Given the description of an element on the screen output the (x, y) to click on. 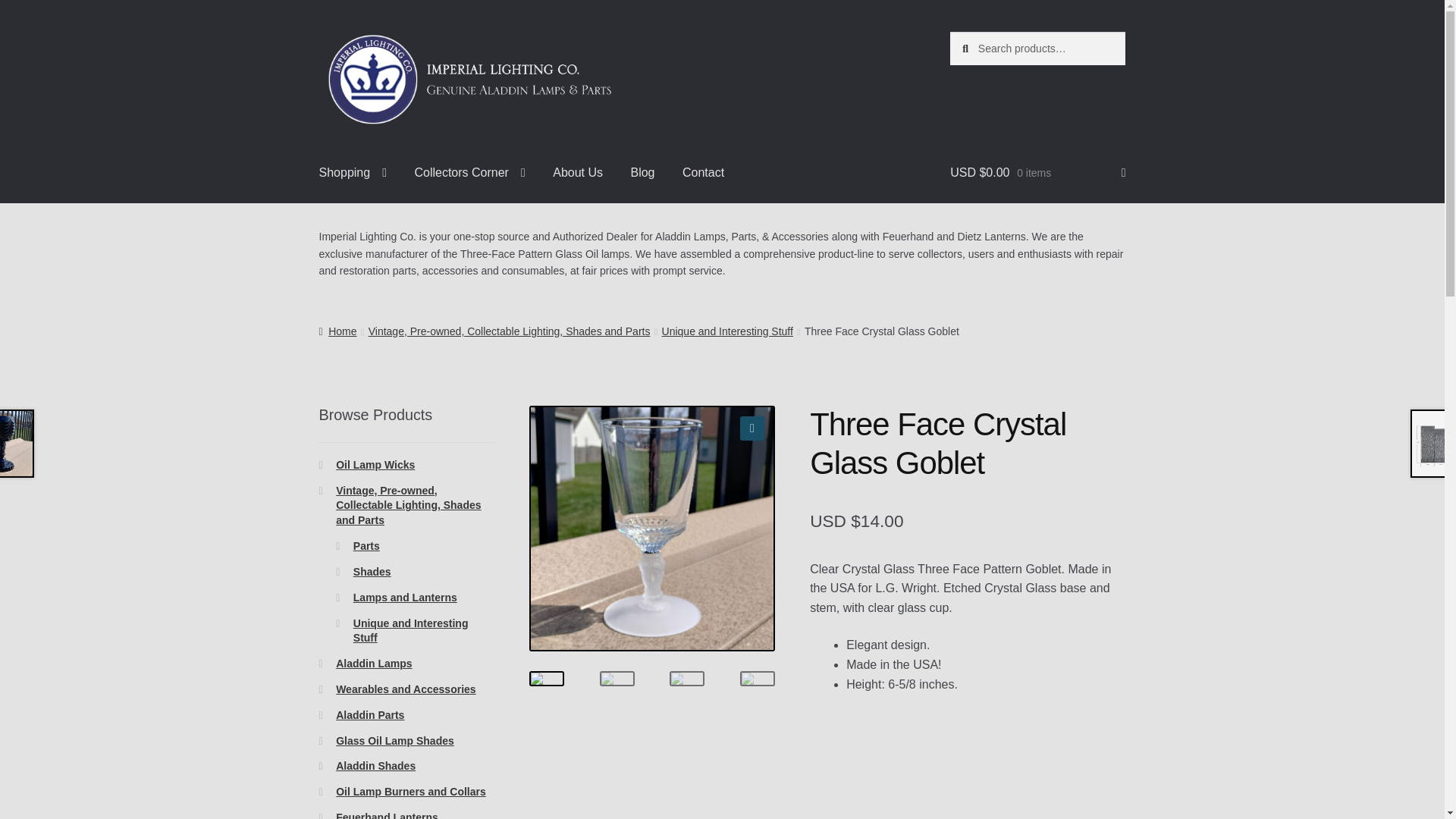
Shopping (352, 172)
About Us (577, 172)
Collectors Corner (469, 172)
View your shopping cart (1037, 172)
Contact (702, 172)
